Given the description of an element on the screen output the (x, y) to click on. 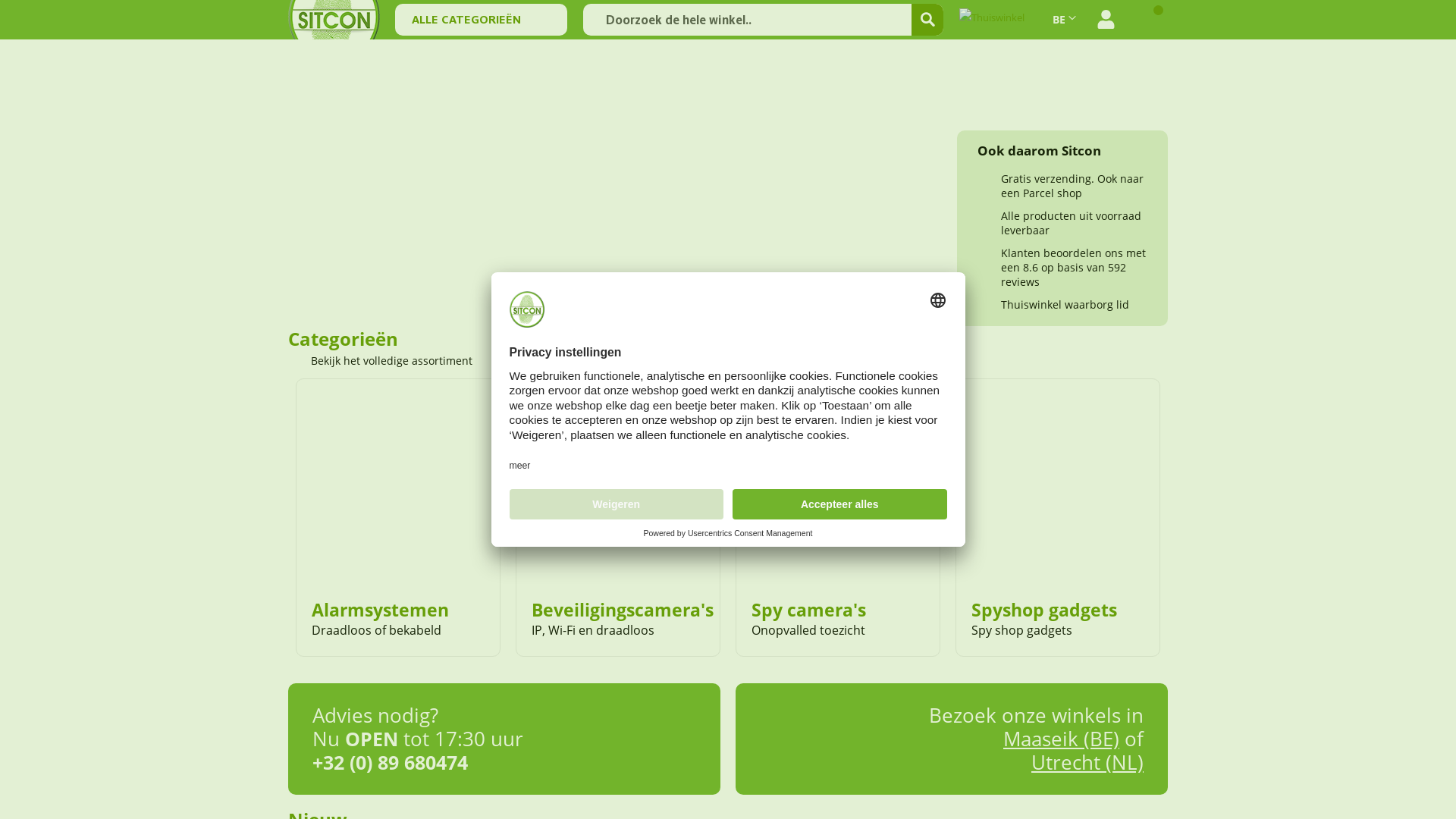
Beveiligingscamera's Element type: text (622, 609)
+32 (0) 89 680474 Element type: text (389, 762)
Spy camera's Element type: text (808, 609)
Winkelwagen Element type: text (1149, 19)
Thuiswinkel Waarborg Element type: hover (997, 19)
Zoek Element type: text (927, 19)
Alarmsystemen Element type: text (379, 609)
Utrecht (NL) Element type: text (1087, 761)
Spyshop gadgets Element type: text (1044, 609)
Mijn account Element type: hover (1105, 19)
Maaseik (BE) Element type: text (1061, 738)
Bekijk het volledige assortiment Element type: text (389, 360)
